Given the description of an element on the screen output the (x, y) to click on. 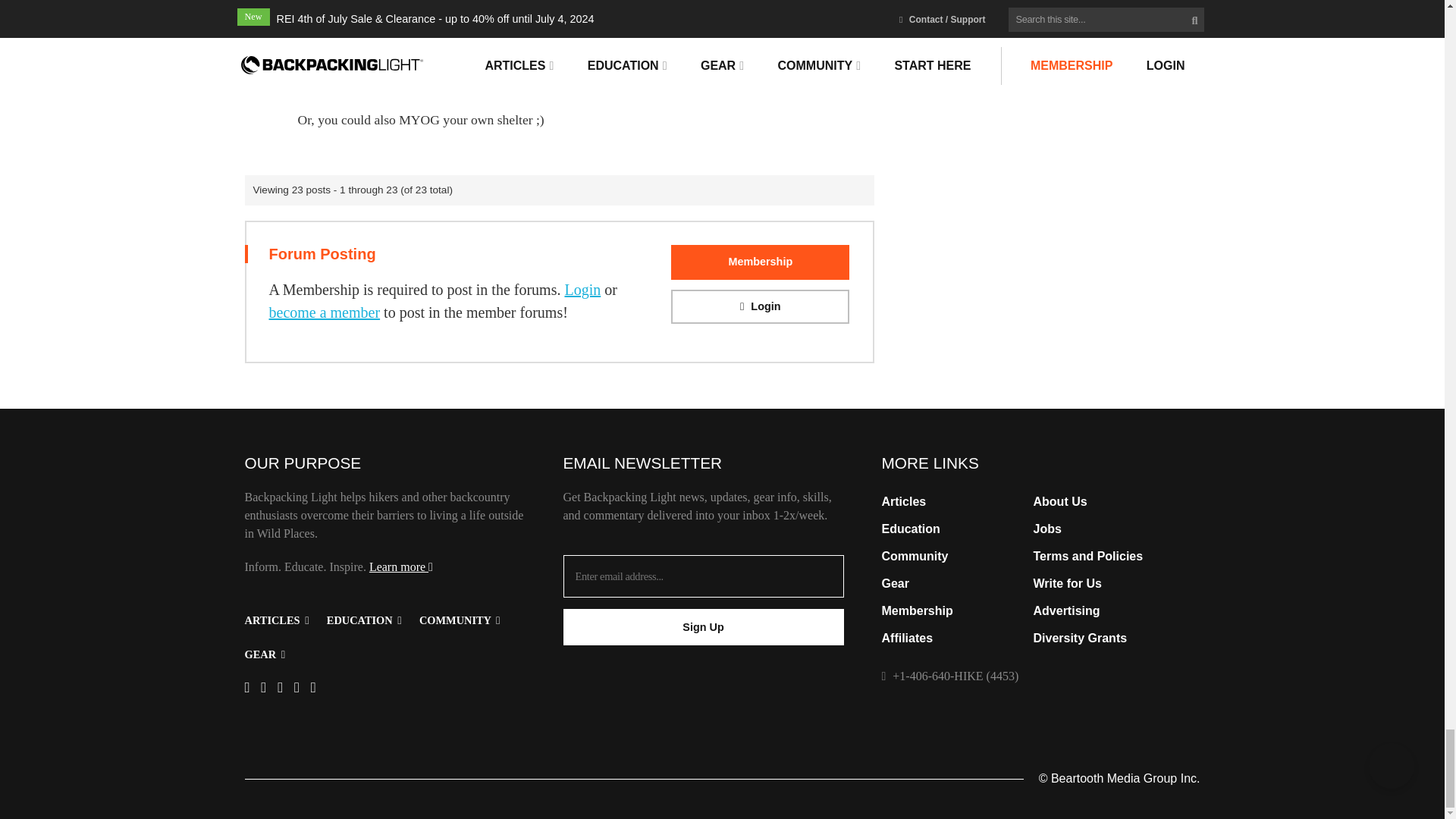
Sign Up (702, 627)
